Given the description of an element on the screen output the (x, y) to click on. 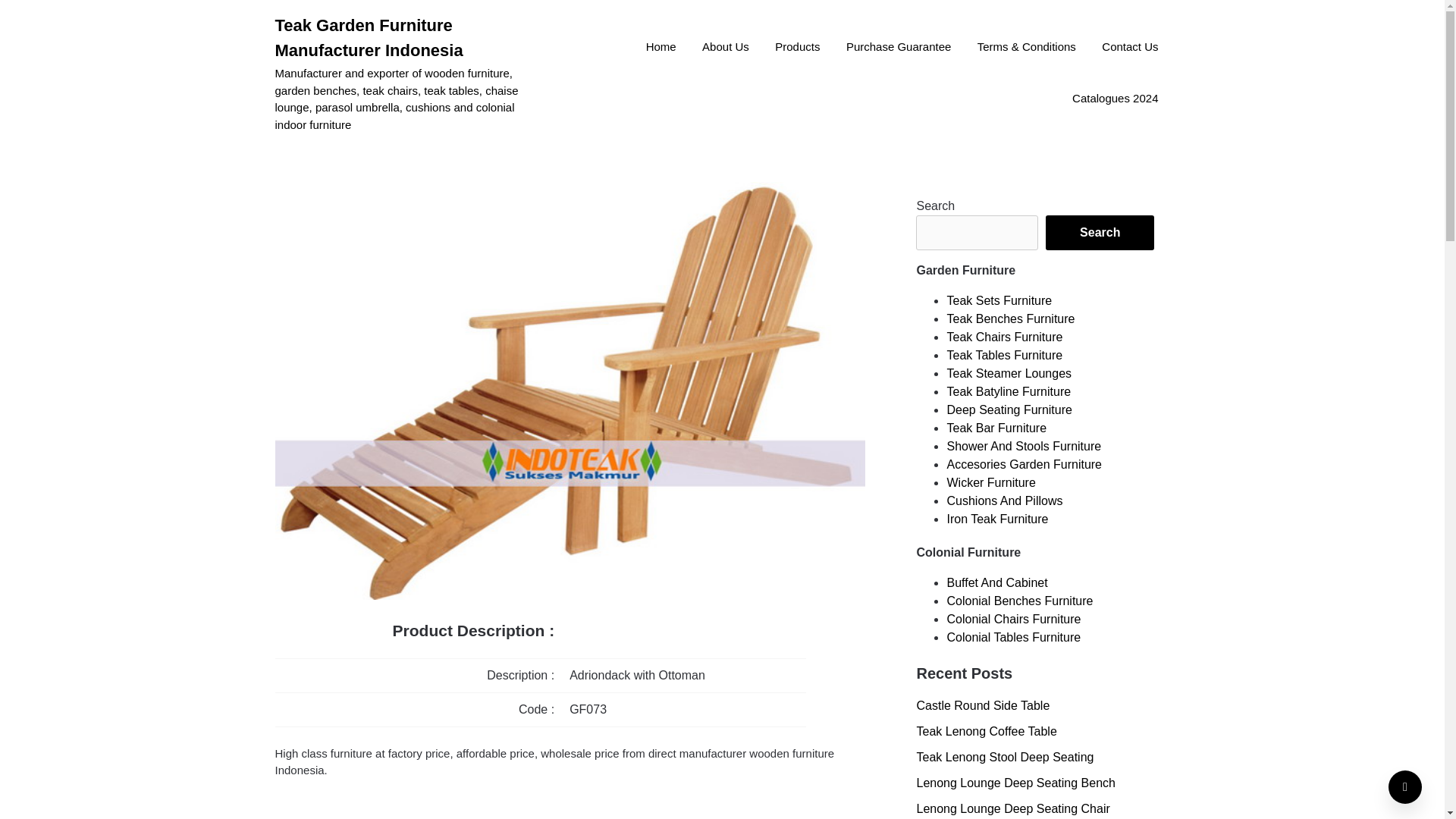
Home (660, 47)
Teak Garden Furniture Manufacturer Indonesia (409, 38)
Catalogues 2024 (1115, 98)
Purchase Guarantee (898, 47)
To Top (1405, 786)
Products (796, 47)
About Us (725, 47)
Contact Us (1129, 47)
